Given the description of an element on the screen output the (x, y) to click on. 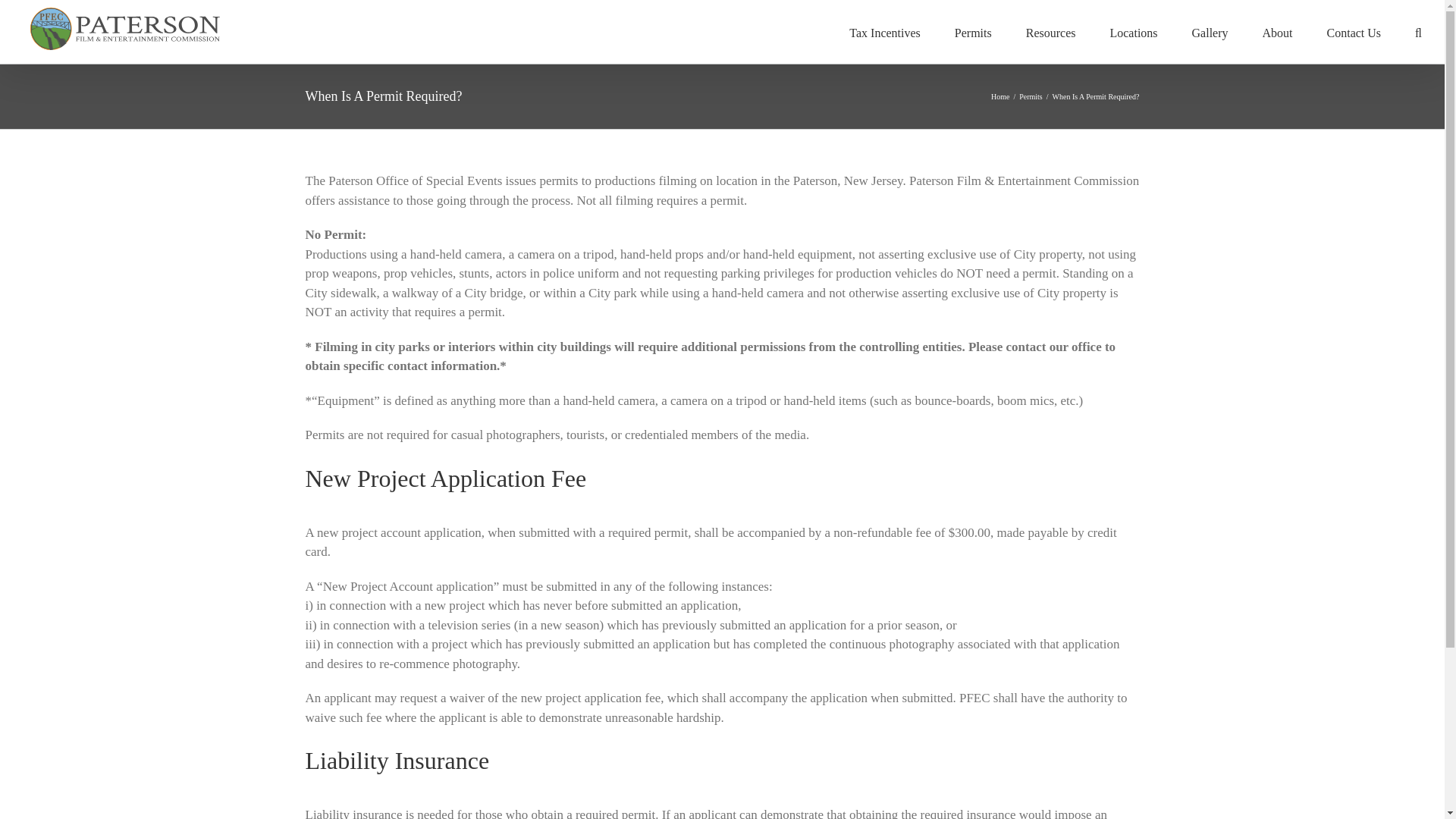
Tax Incentives (884, 31)
